Given the description of an element on the screen output the (x, y) to click on. 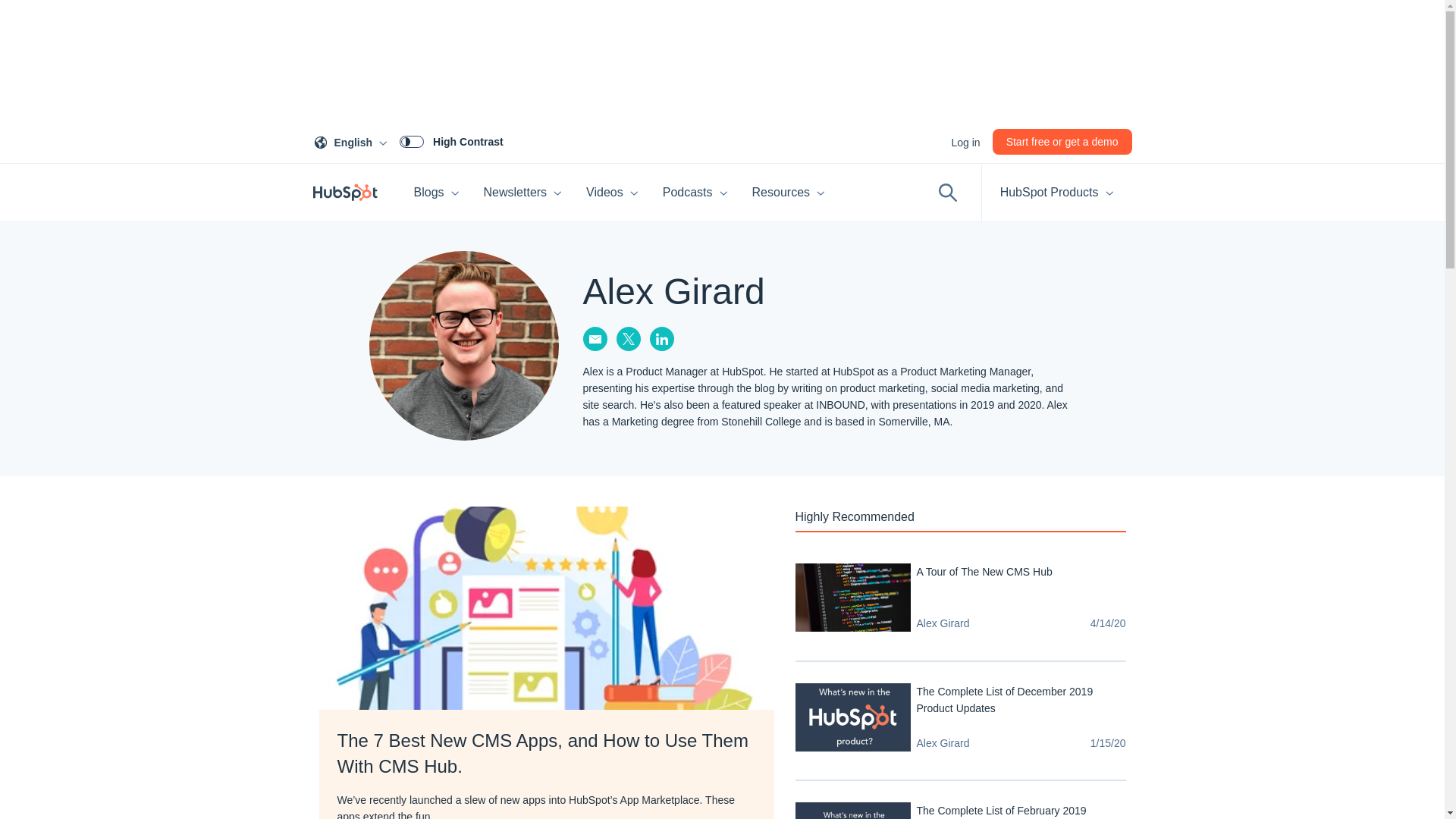
Videos (611, 192)
Start free or get a demo (1062, 141)
Newsletters (523, 192)
Log in (353, 142)
Blogs (964, 142)
High Contrast (436, 192)
